Given the description of an element on the screen output the (x, y) to click on. 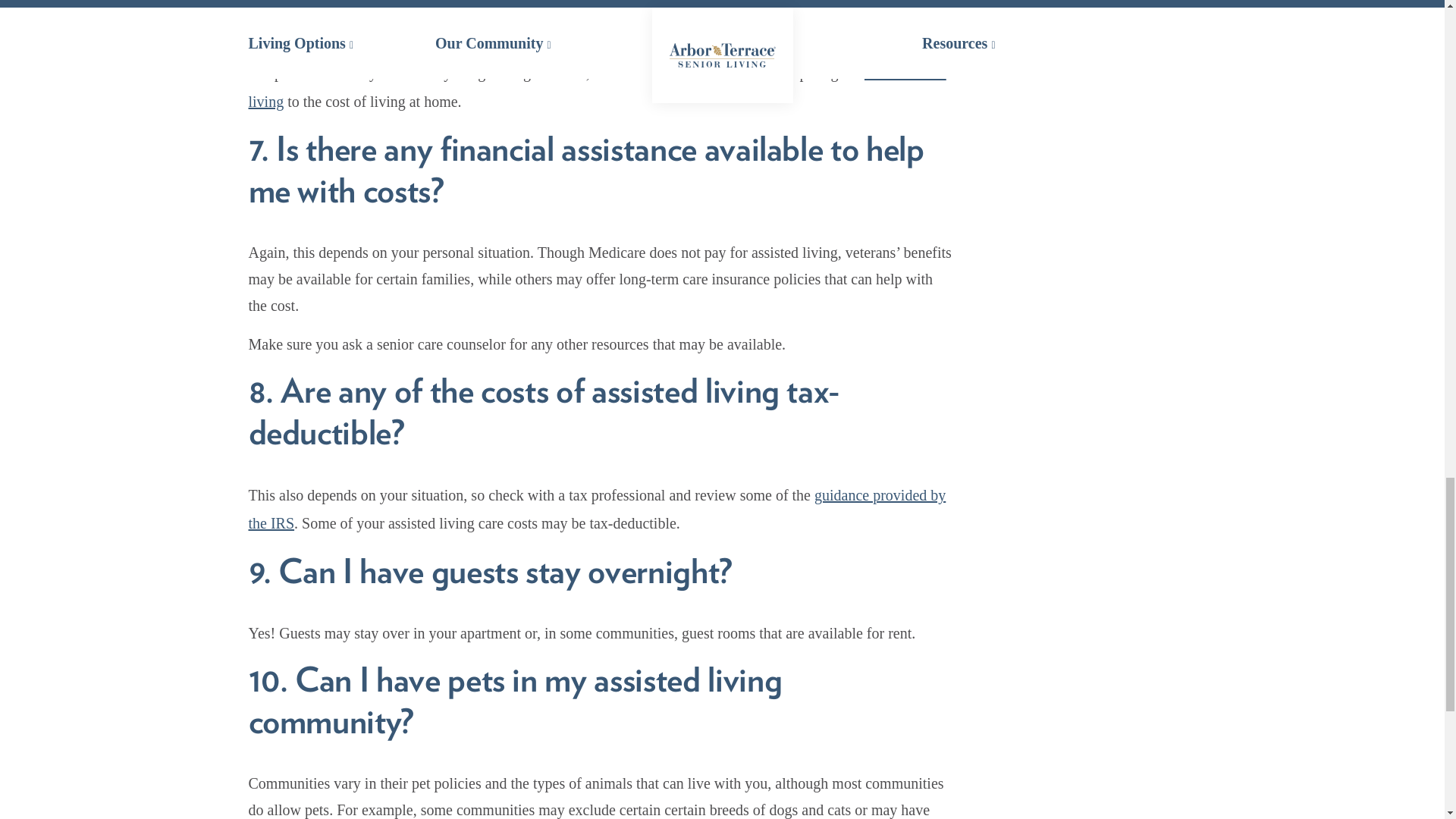
guidance provided by the IRS (597, 508)
cost of senior living (597, 86)
